Given the description of an element on the screen output the (x, y) to click on. 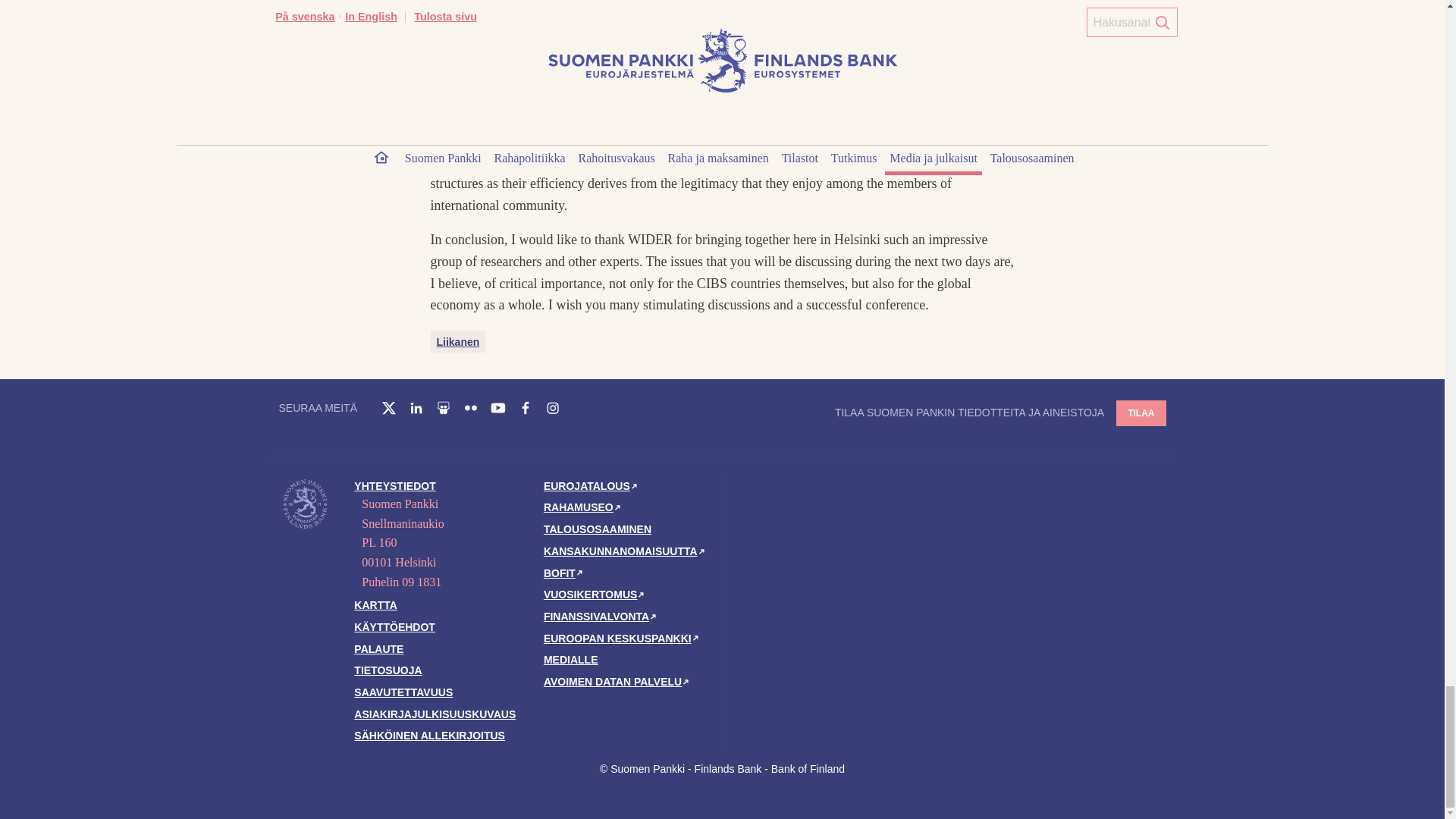
Asiakirjajulkisuuskuvaus (434, 714)
Saavutettavuus (402, 692)
Avaa asiasanahaku sanalla Liikanen (458, 341)
Tietosuoja (387, 670)
Tilaa (1141, 412)
